Given the description of an element on the screen output the (x, y) to click on. 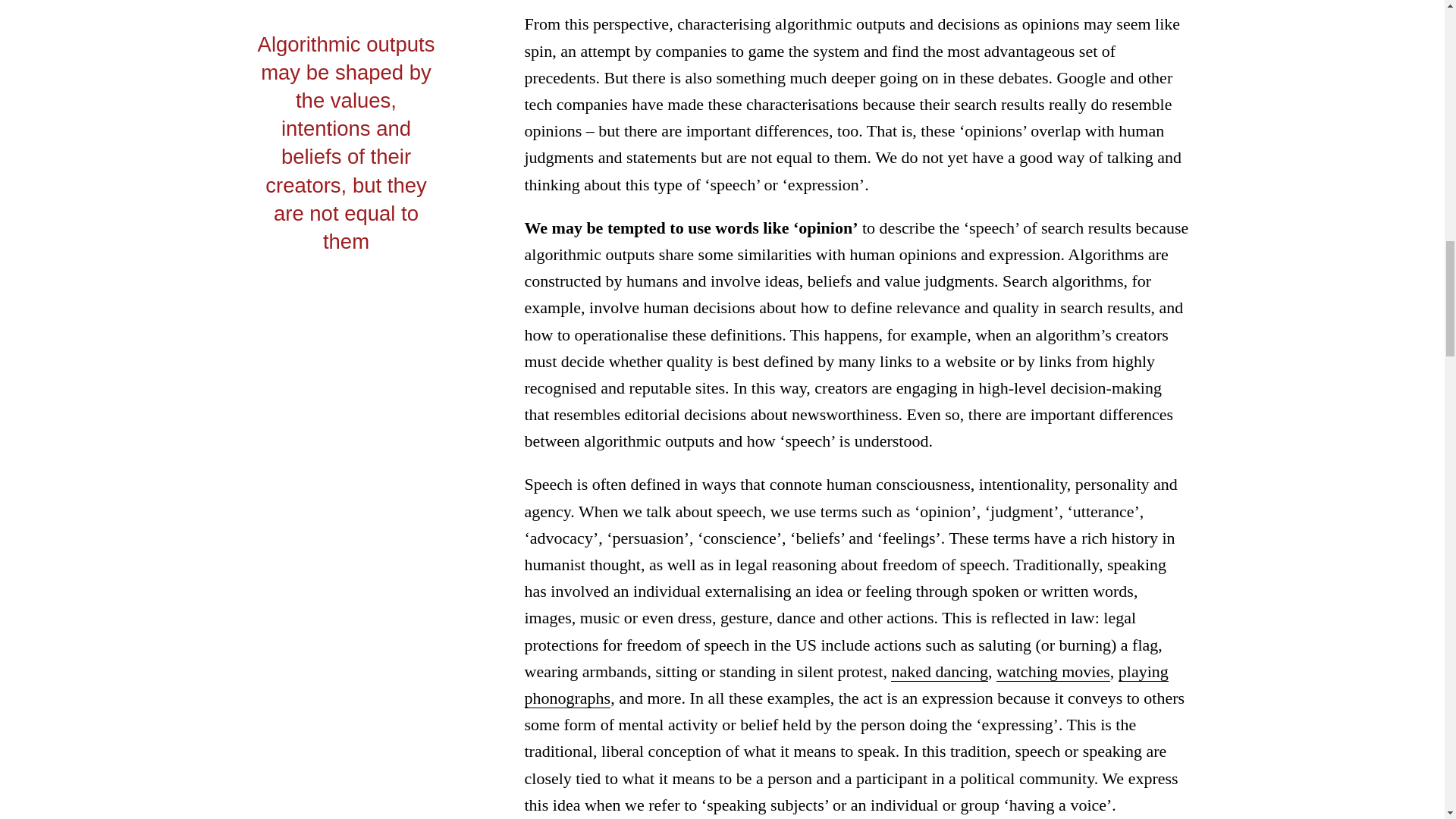
naked dancing (939, 671)
playing phonographs (846, 684)
watching movies (1052, 671)
